Given the description of an element on the screen output the (x, y) to click on. 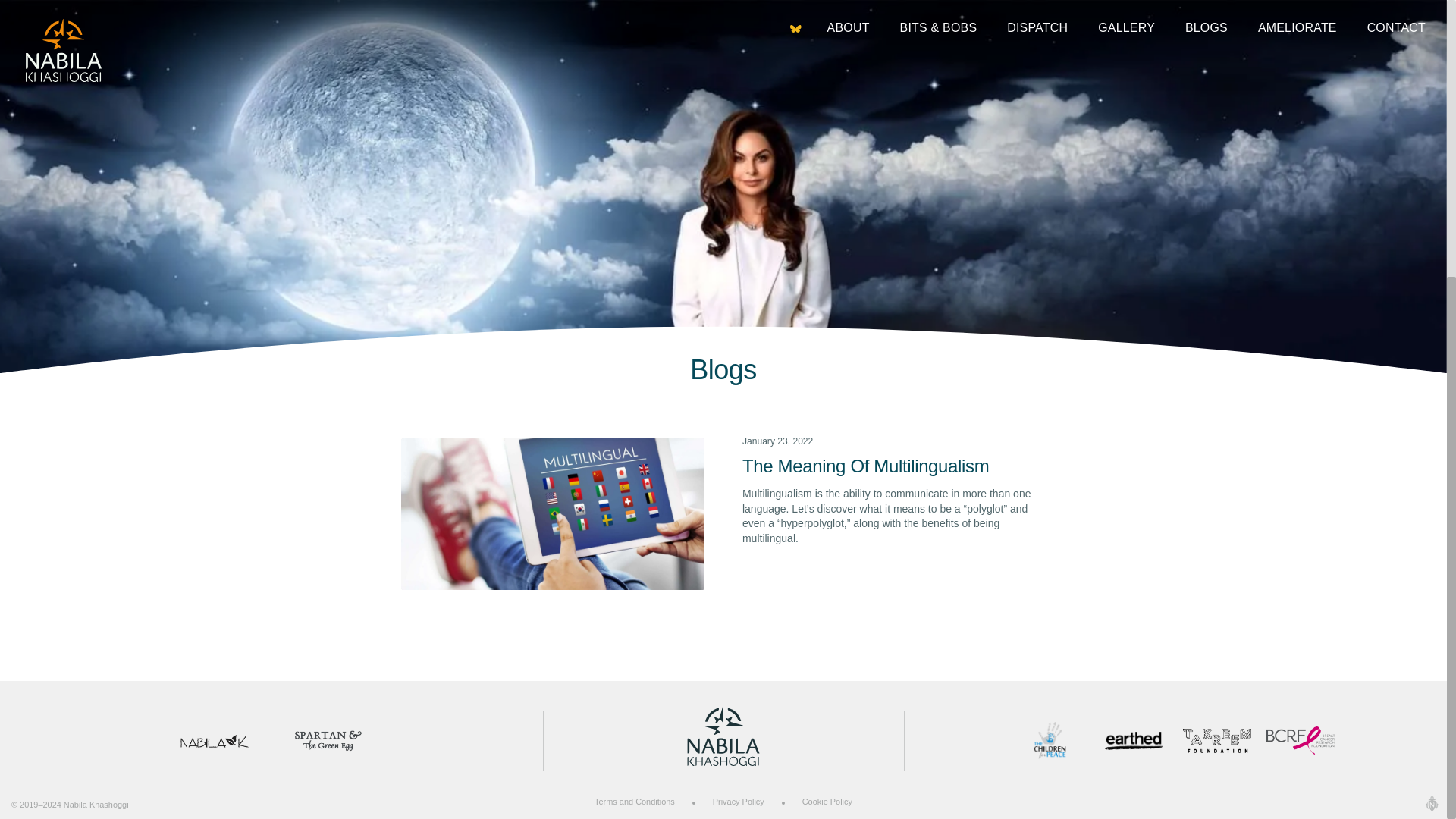
Breast Cancer Research Foundation (1300, 740)
Earthed (1133, 740)
Link to the information about Nabila K. (214, 740)
Privacy Policy (738, 801)
Cookie Policy (826, 801)
Terms and Conditions (634, 801)
Takreem Foundation (1216, 740)
Link to the main page (723, 741)
